Given the description of an element on the screen output the (x, y) to click on. 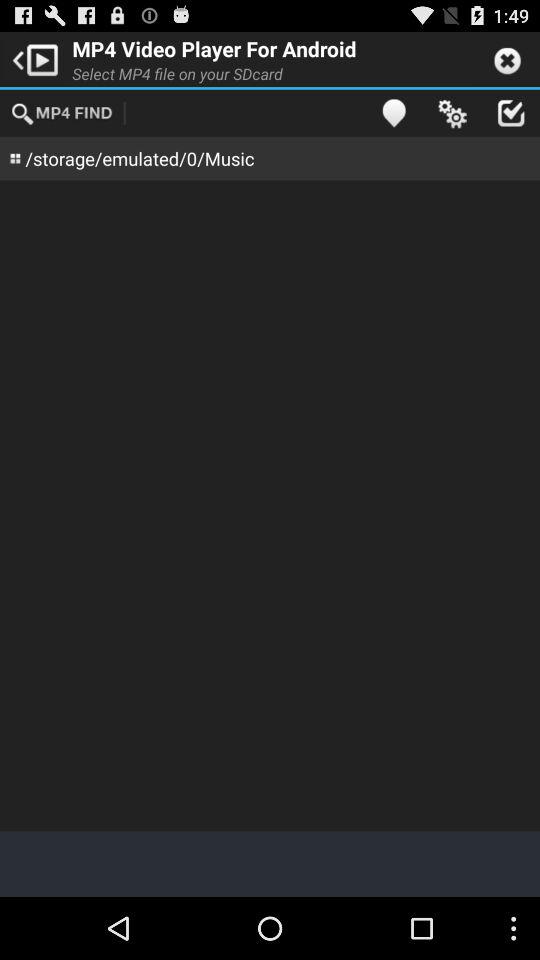
open the app next to the mp4 video player app (32, 58)
